Given the description of an element on the screen output the (x, y) to click on. 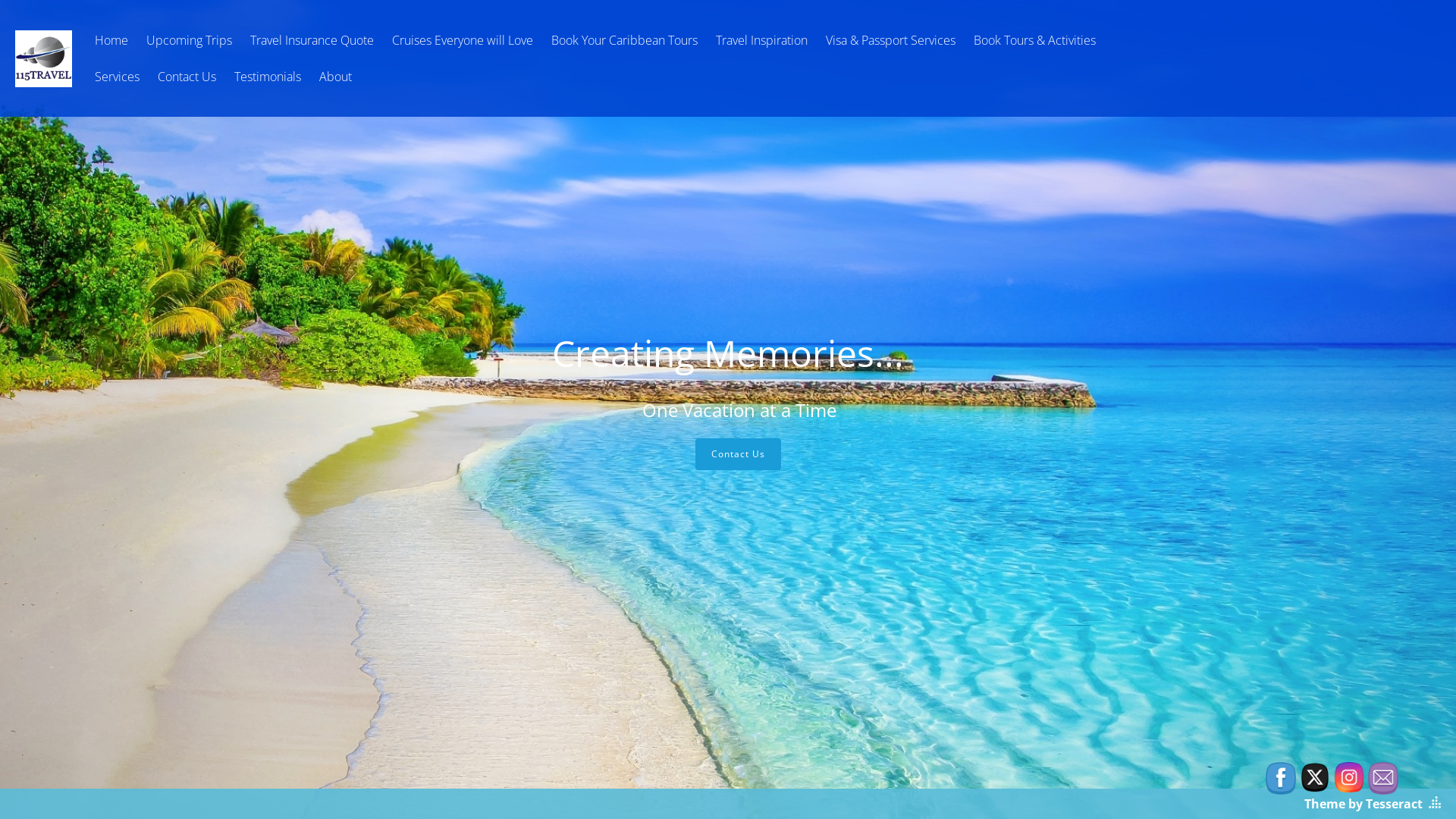
Twitter Element type: hover (1314, 777)
Contact Us Element type: text (737, 454)
Testimonials Element type: text (267, 76)
Home Element type: text (111, 39)
Contact Us Element type: text (186, 76)
Instagram Element type: hover (1348, 777)
Theme by Tesseract Element type: text (1363, 803)
Travel Inspiration Element type: text (761, 39)
Cruises Everyone will Love Element type: text (462, 39)
Services Element type: text (117, 76)
About Element type: text (335, 76)
Visa & Passport Services Element type: text (890, 39)
Facebook Element type: hover (1280, 778)
Book Tours & Activities Element type: text (1034, 39)
Book Your Caribbean Tours Element type: text (624, 39)
Upcoming Trips Element type: text (188, 39)
Travel Insurance Quote Element type: text (311, 39)
Follow by Email Element type: hover (1383, 778)
